Given the description of an element on the screen output the (x, y) to click on. 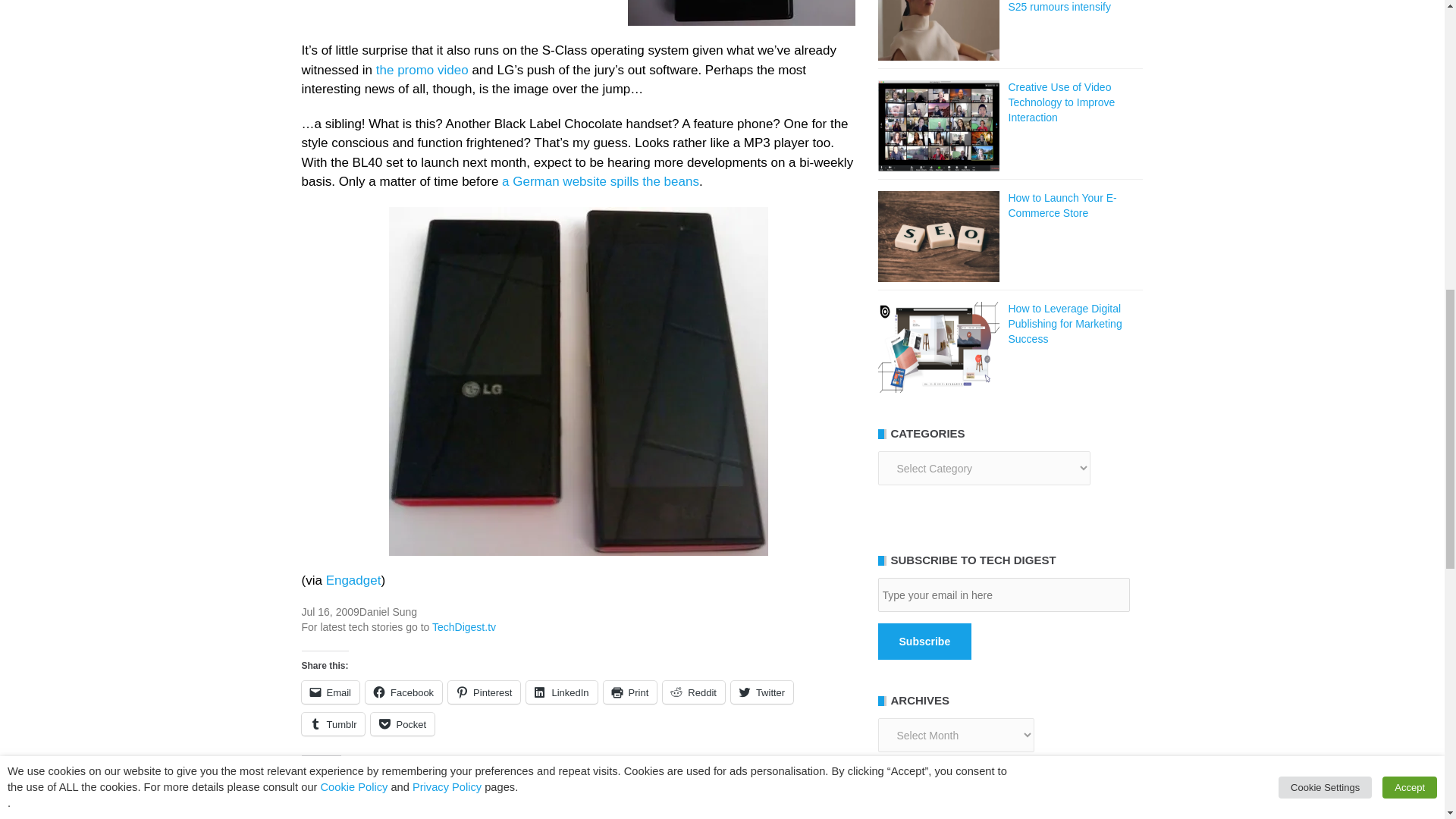
Click to share on Facebook (403, 691)
Click to share on Twitter (761, 691)
Click to share on LinkedIn (560, 691)
Type your email in here (1003, 594)
Click to share on Pinterest (483, 691)
Click to share on Reddit (693, 691)
Click to share on Tumblr (333, 723)
Type your email in here (1003, 594)
Click to email a link to a friend (330, 691)
Click to print (631, 691)
